Given the description of an element on the screen output the (x, y) to click on. 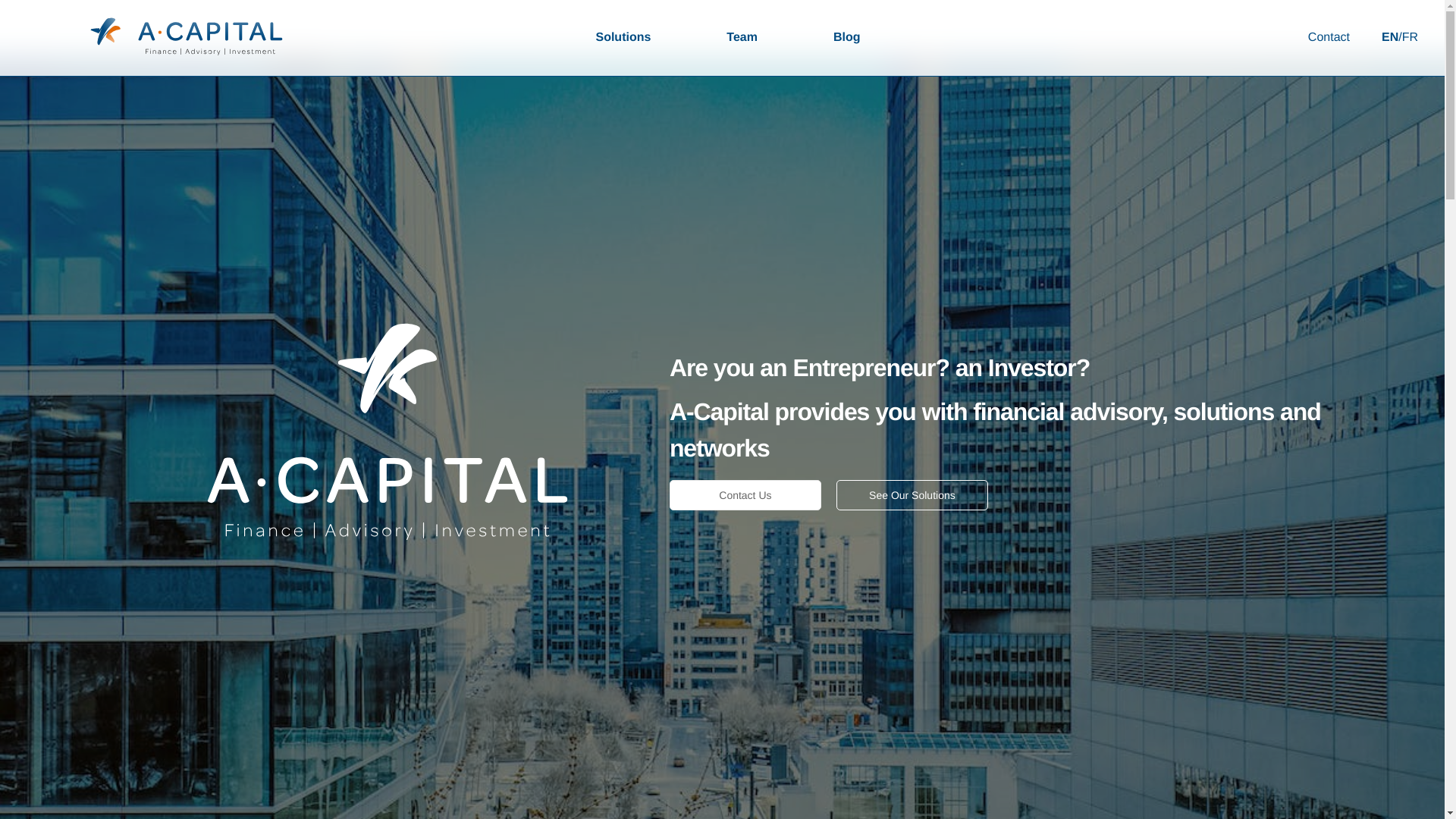
Solutions Element type: text (622, 37)
Team Element type: text (741, 37)
Who are we? Element type: text (988, 550)
Contact Us Element type: text (745, 495)
Contact Element type: text (1328, 37)
Mail. Element type: text (506, 552)
Contact. Element type: text (516, 585)
Administration Element type: text (721, 767)
See Our Solutions Element type: text (912, 495)
Legal Element type: text (968, 582)
Blog Element type: text (846, 37)
